Given the description of an element on the screen output the (x, y) to click on. 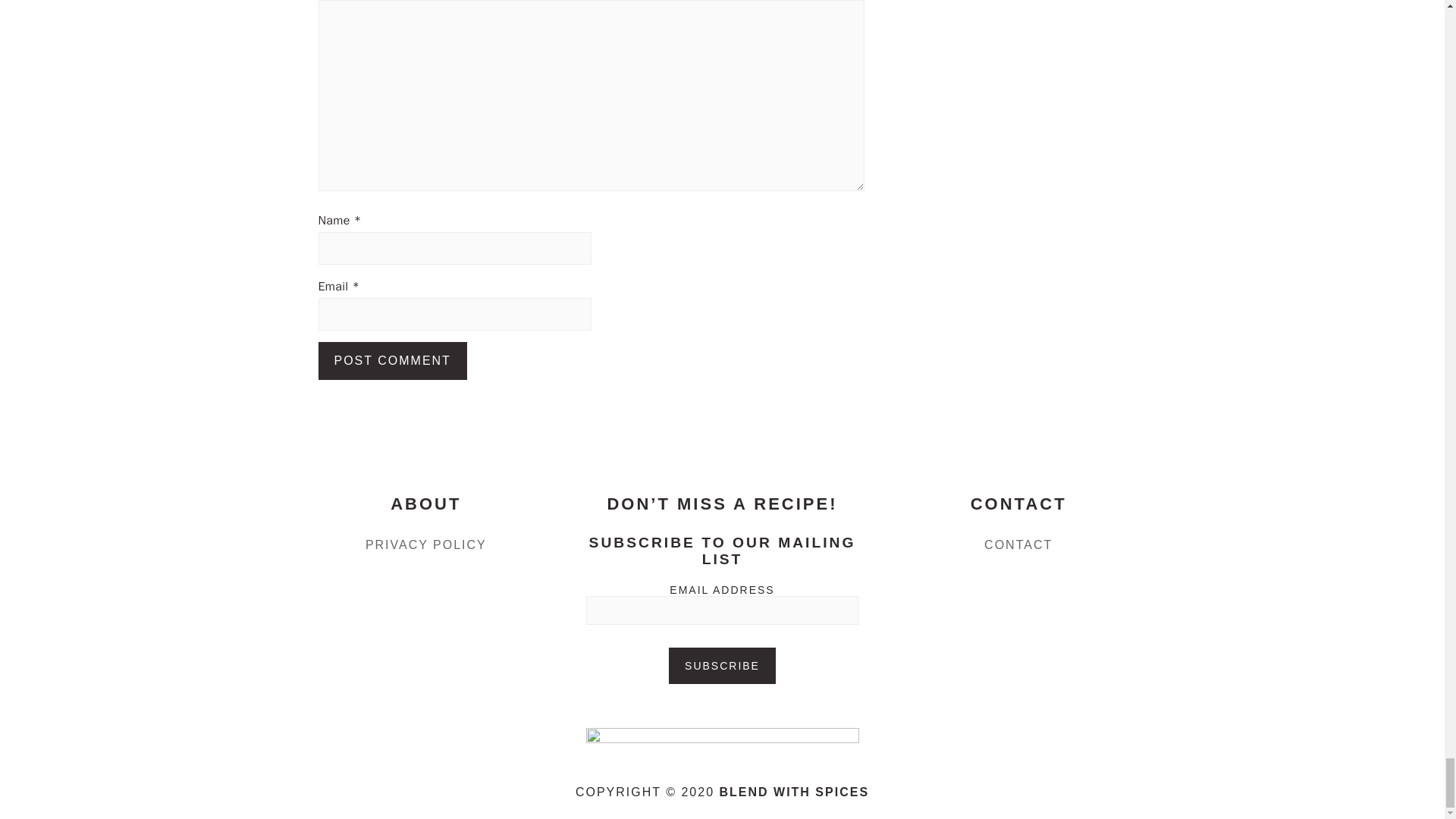
Subscribe (722, 665)
Post Comment (392, 361)
